Given the description of an element on the screen output the (x, y) to click on. 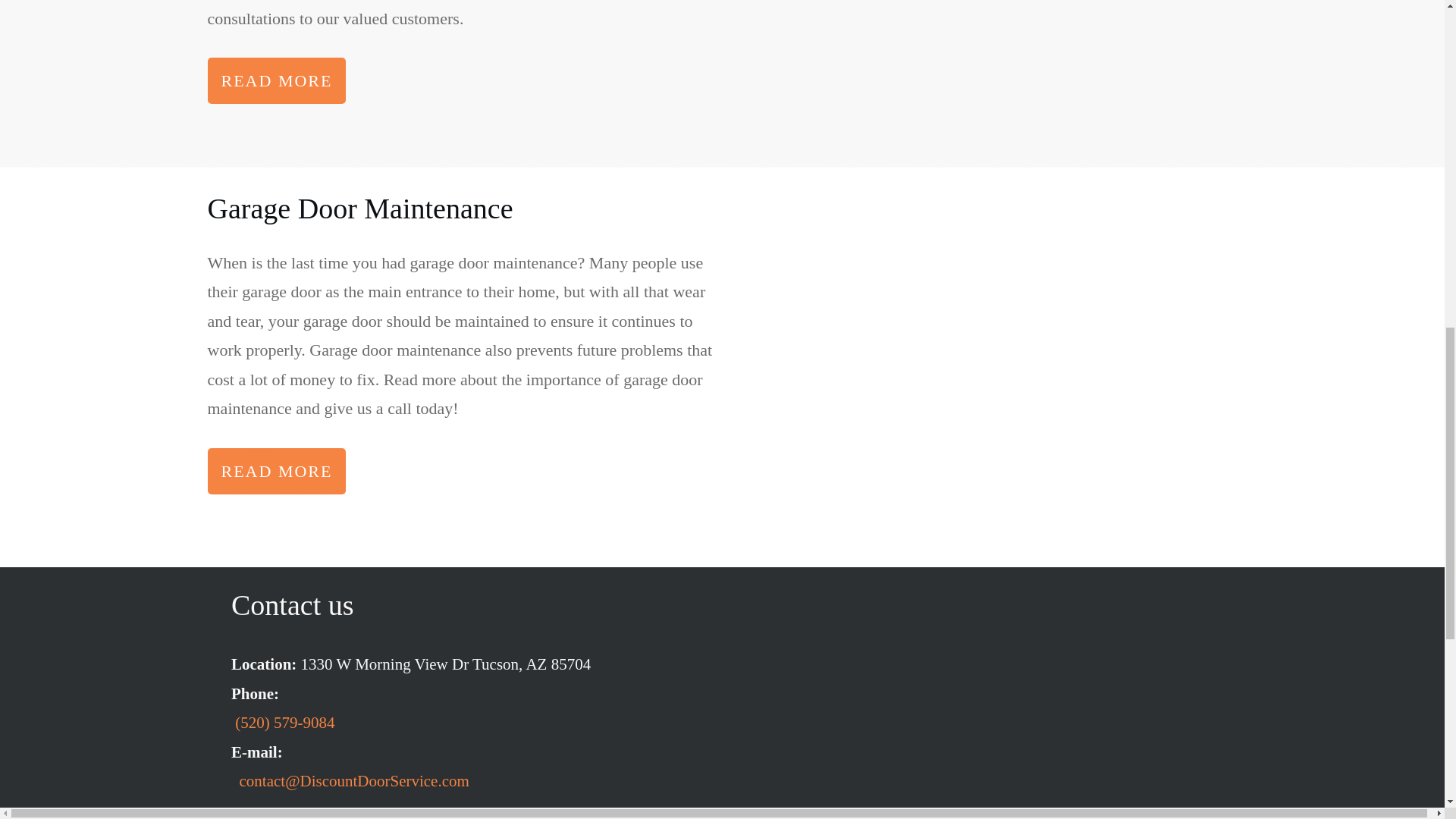
garage-door-installation-discount-door-service (983, 65)
embedded content 1 (981, 729)
READ MORE (277, 80)
READ MORE (277, 470)
